Given the description of an element on the screen output the (x, y) to click on. 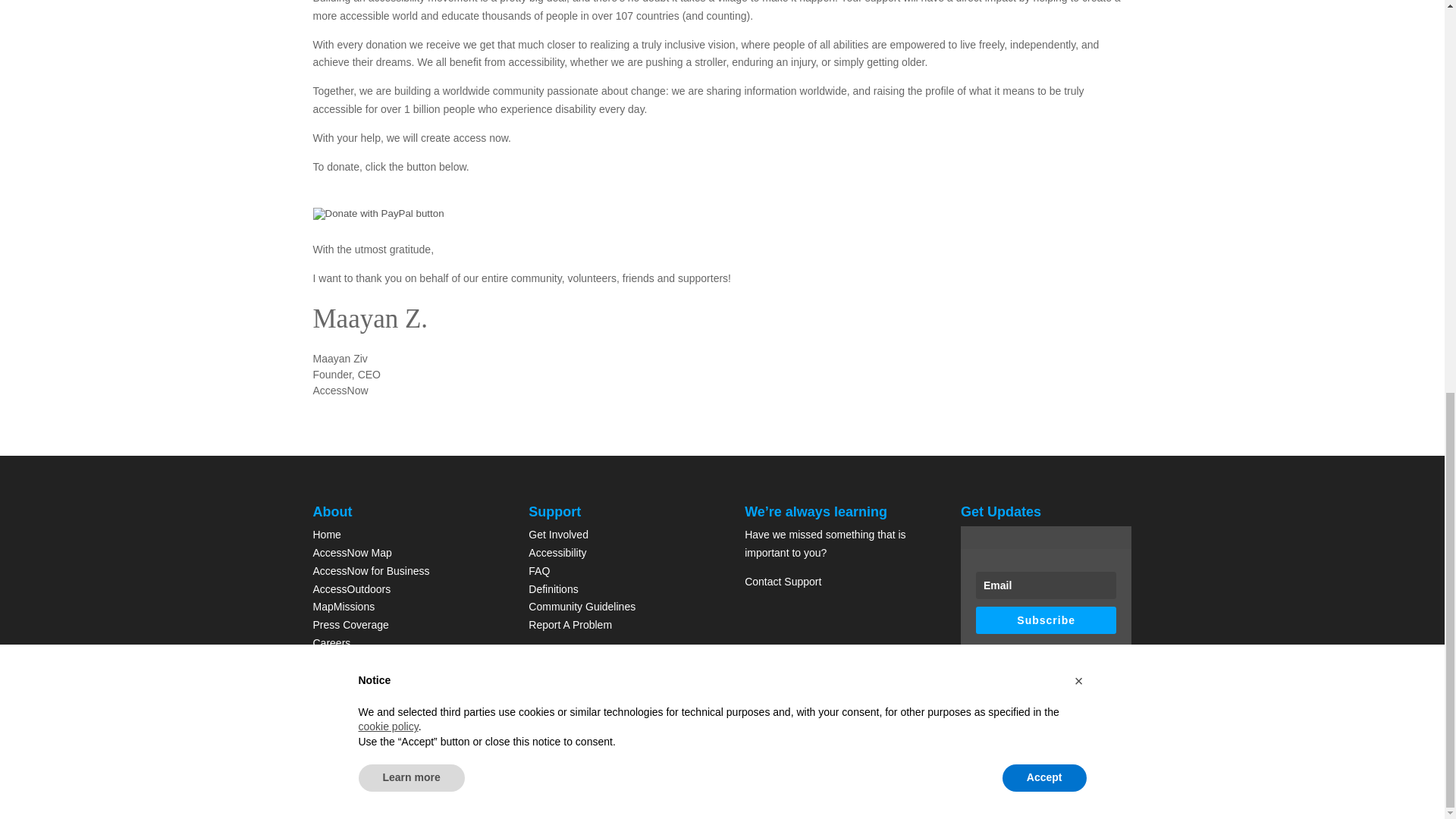
Report A Problem (569, 624)
AccessNow Map (352, 552)
Definitions (553, 589)
MapMissions (343, 606)
FAQ (539, 571)
Get Involved (558, 534)
Blog (323, 661)
Accessibility (557, 552)
Community Guidelines (581, 606)
Privacy Policy (561, 653)
English (395, 755)
Subscribe (1045, 619)
Contact Support (782, 581)
PayPal - The safer, easier way to pay online! (378, 214)
